Given the description of an element on the screen output the (x, y) to click on. 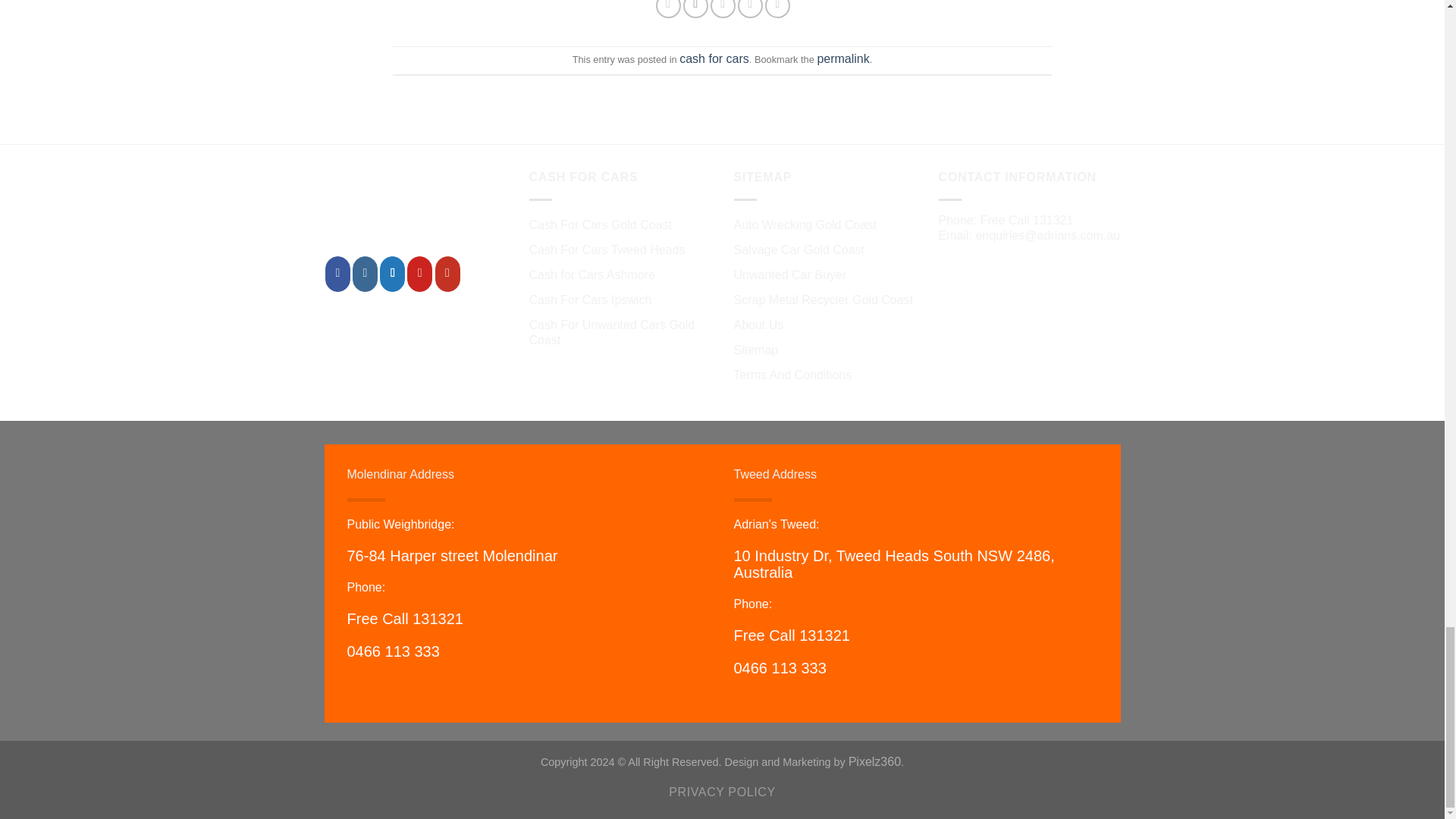
Email to a Friend (722, 9)
Share on LinkedIn (777, 9)
Pin on Pinterest (750, 9)
Share on Twitter (694, 9)
Share on Facebook (668, 9)
